Given the description of an element on the screen output the (x, y) to click on. 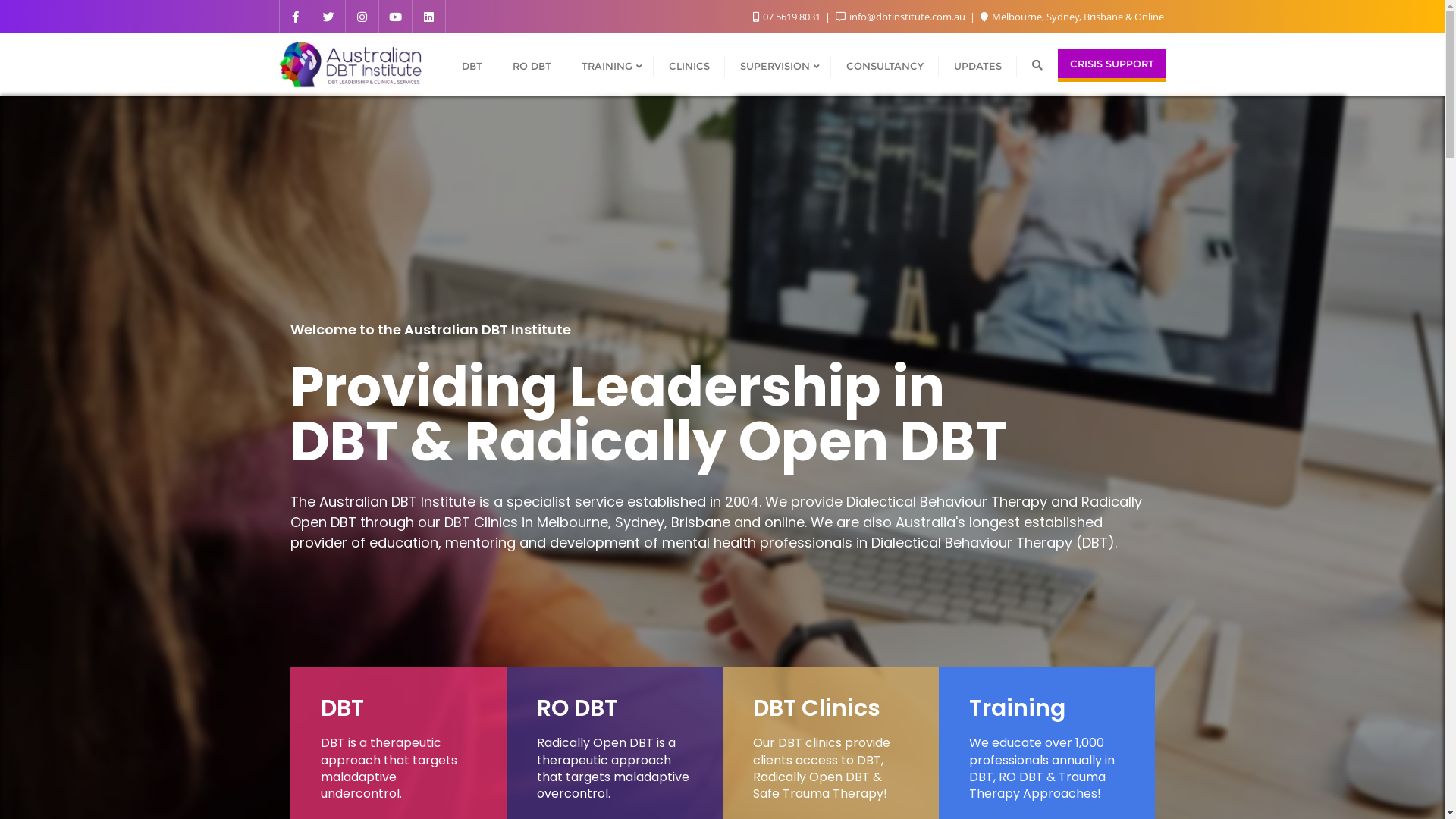
CRISIS SUPPORT Element type: text (1111, 64)
CLINICS Element type: text (688, 64)
info@dbtinstitute.com.au Element type: text (901, 16)
UPDATES Element type: text (977, 64)
TRAINING Element type: text (608, 64)
SUPERVISION Element type: text (777, 64)
CONSULTANCY Element type: text (884, 64)
DBT Element type: text (470, 64)
RO DBT Element type: text (531, 64)
